Given the description of an element on the screen output the (x, y) to click on. 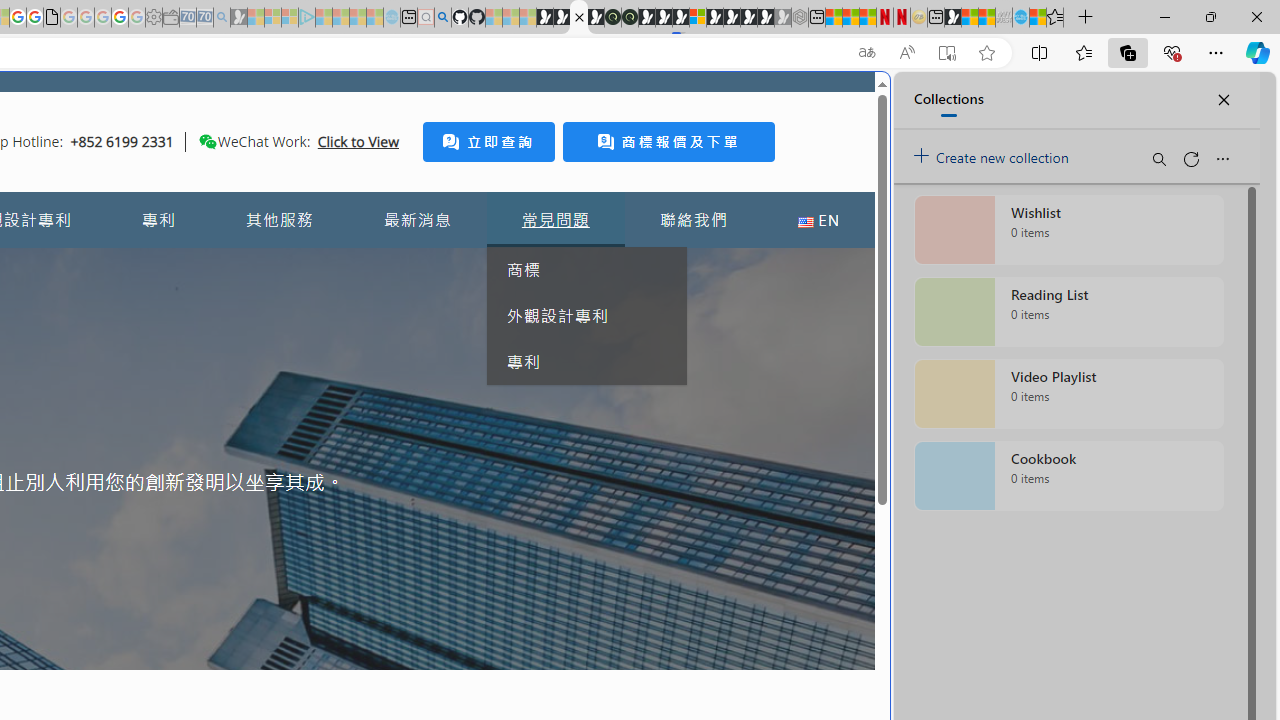
Enter Immersive Reader (F9) (946, 53)
Settings - Sleeping (153, 17)
Future Focus Report 2024 (629, 17)
Tabs you've opened (276, 265)
Home | Sky Blue Bikes - Sky Blue Bikes - Sleeping (392, 17)
Navy Quest (1003, 17)
Play Zoo Boom in your browser | Games from Microsoft Start (561, 17)
